Given the description of an element on the screen output the (x, y) to click on. 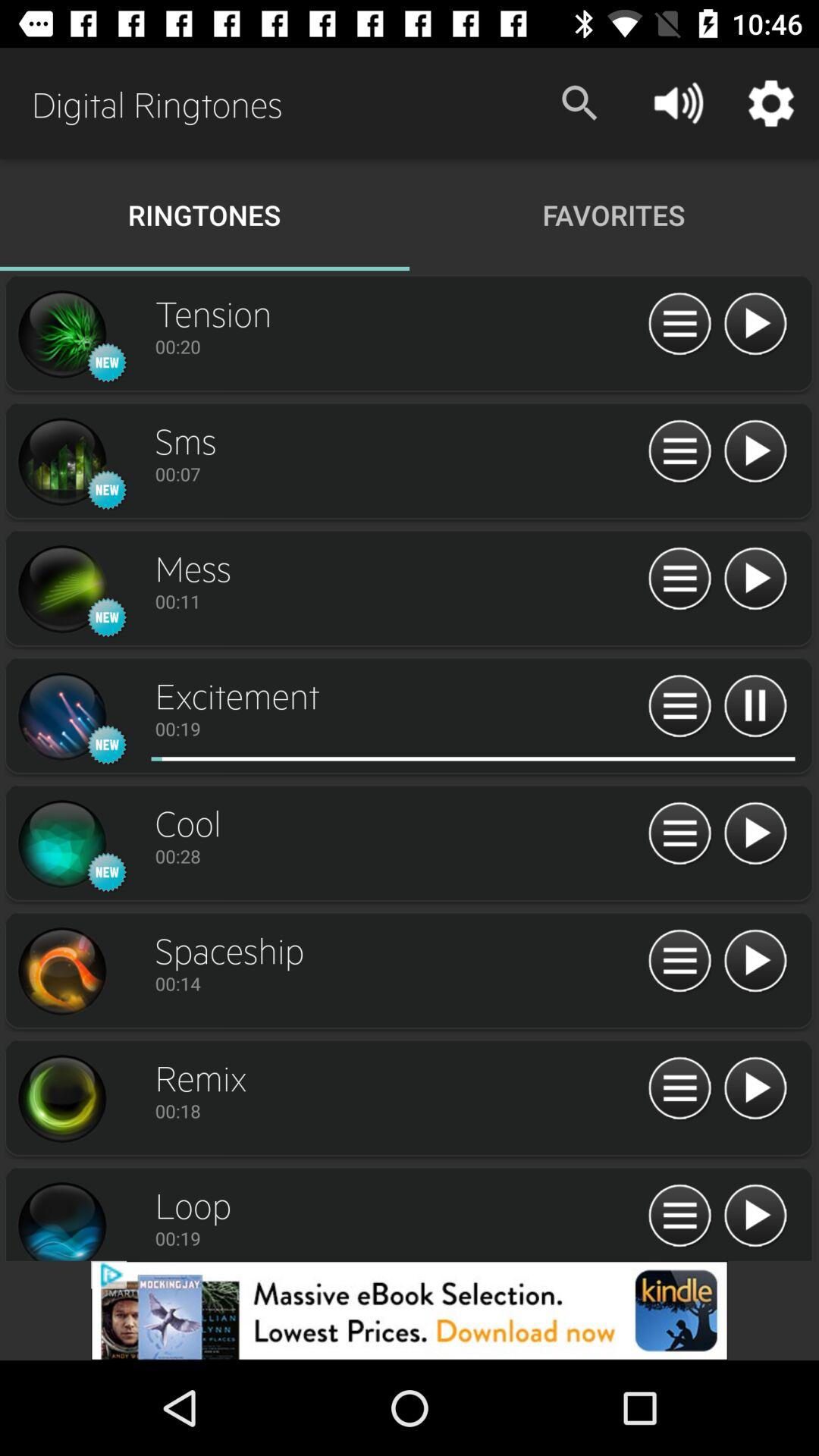
ringtones (61, 462)
